Given the description of an element on the screen output the (x, y) to click on. 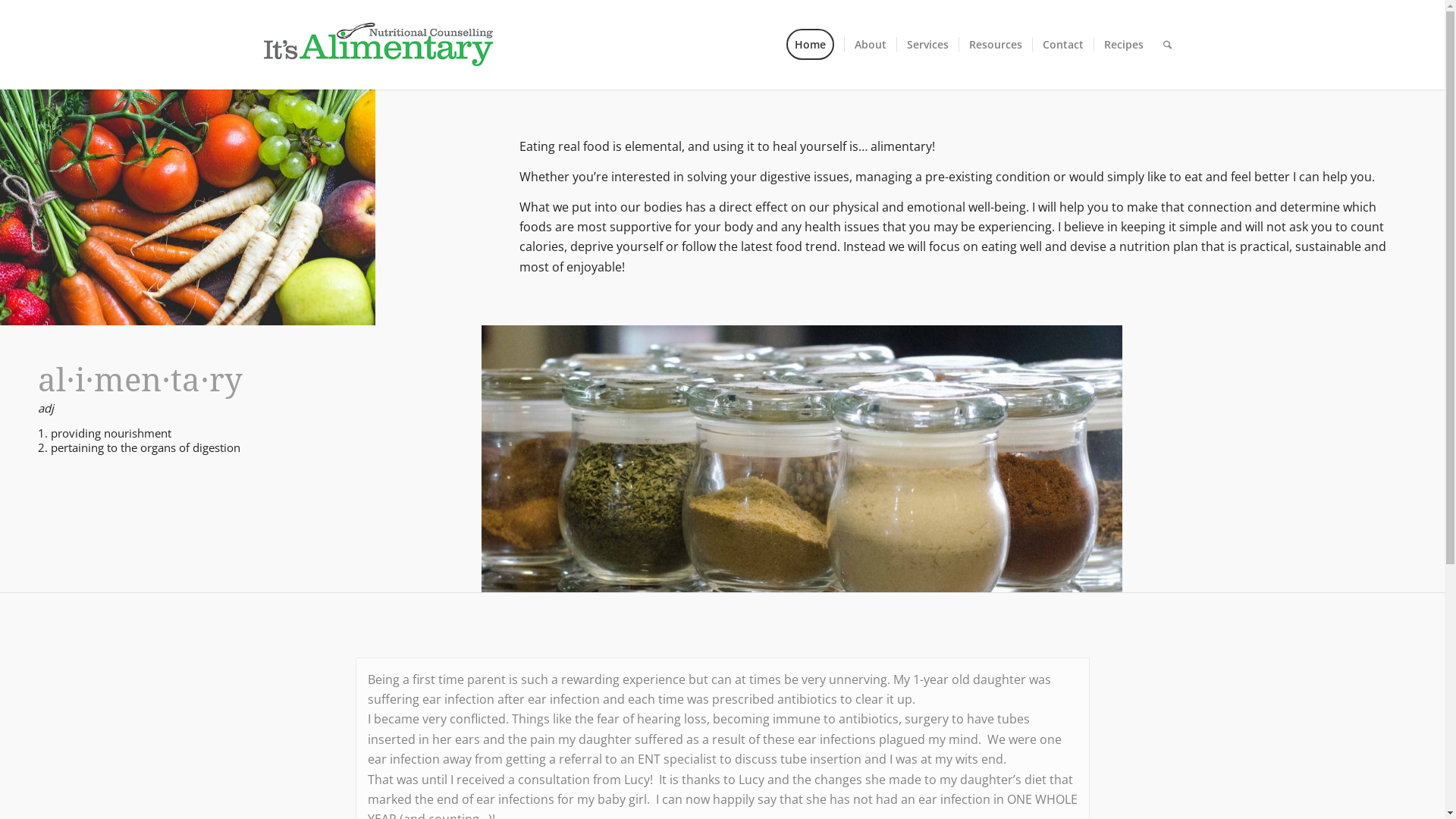
About Element type: text (869, 44)
Contact Element type: text (1061, 44)
Home Element type: text (814, 44)
Recipes Element type: text (1123, 44)
Resources Element type: text (995, 44)
Services Element type: text (927, 44)
